Given the description of an element on the screen output the (x, y) to click on. 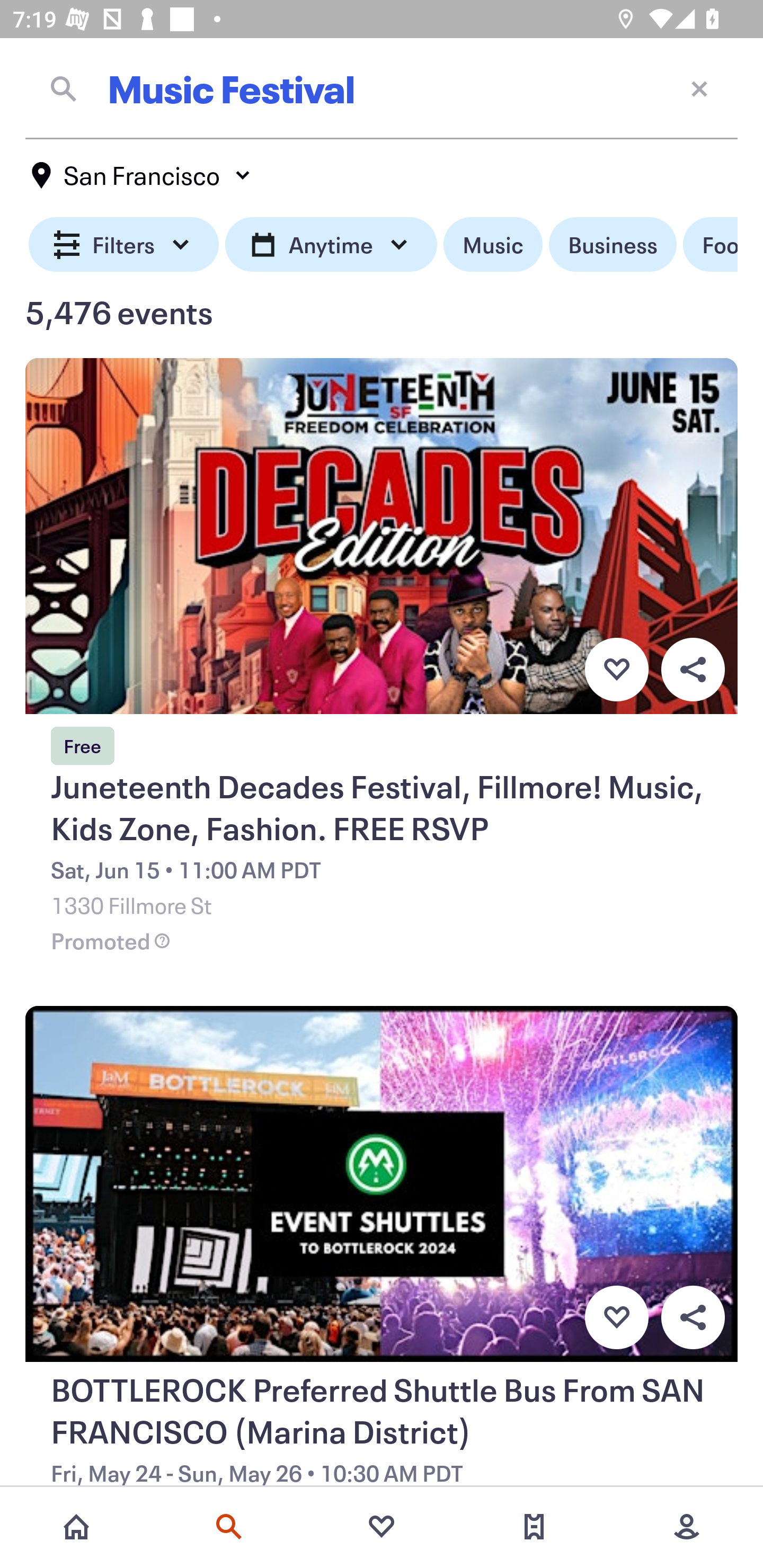
Music Festival Close current screen (381, 88)
Close current screen (699, 88)
San Francisco (141, 175)
Filters (123, 244)
Anytime (331, 244)
Music (492, 244)
Business (612, 244)
Favorite button (616, 669)
Overflow menu button (692, 669)
Favorite button (616, 1317)
Overflow menu button (692, 1317)
Home (76, 1526)
Search events (228, 1526)
Favorites (381, 1526)
Tickets (533, 1526)
More (686, 1526)
